Given the description of an element on the screen output the (x, y) to click on. 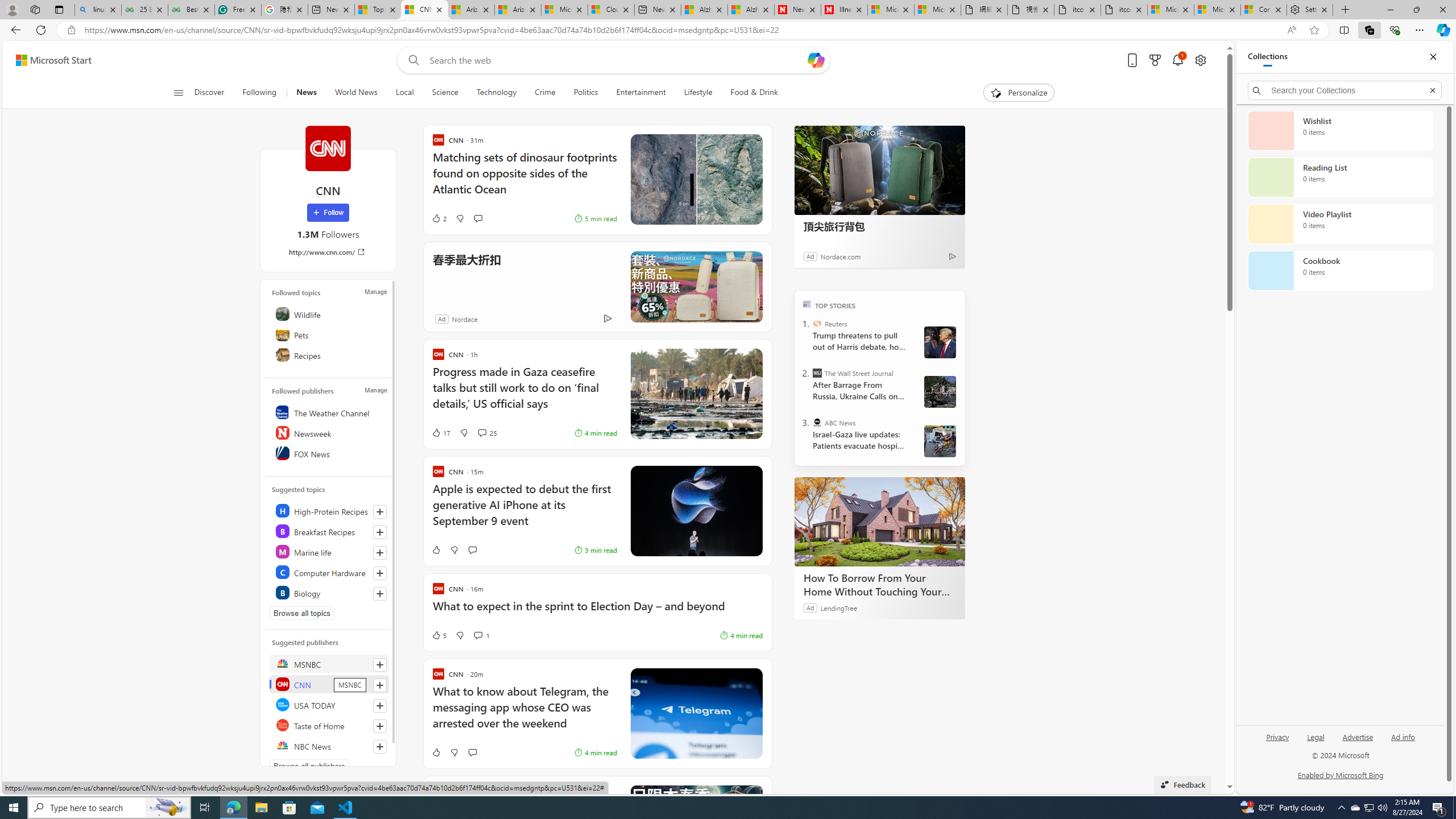
Wildlife (328, 313)
CNN - MSN (424, 9)
Free AI Writing Assistance for Students | Grammarly (237, 9)
Follow this source (379, 746)
17 Like (440, 432)
Exit search (1432, 90)
